Given the description of an element on the screen output the (x, y) to click on. 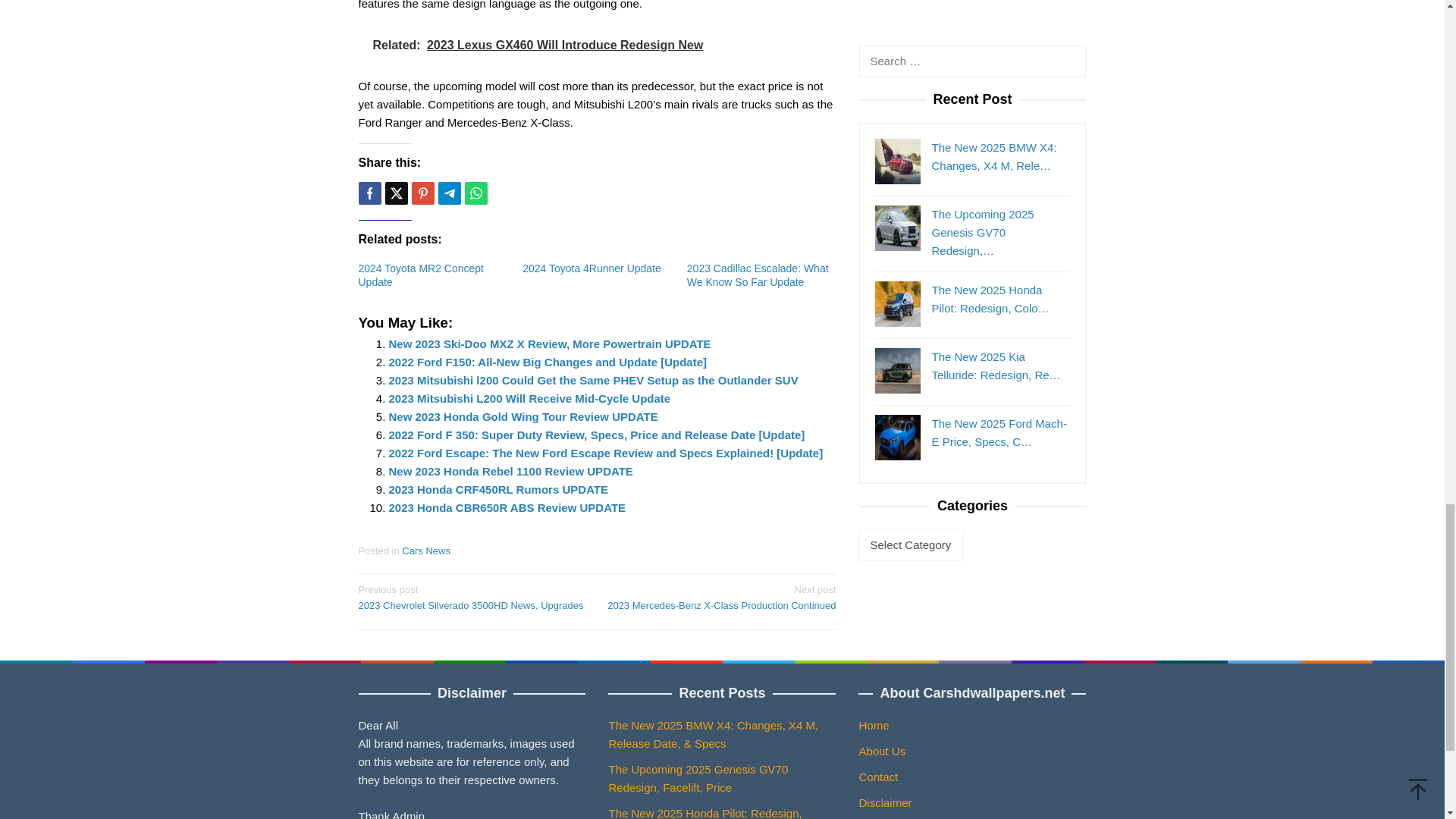
Pin this (421, 192)
Whatsapp (475, 192)
Telegram Share (449, 192)
Share this (369, 192)
Tweet this (396, 192)
